Given the description of an element on the screen output the (x, y) to click on. 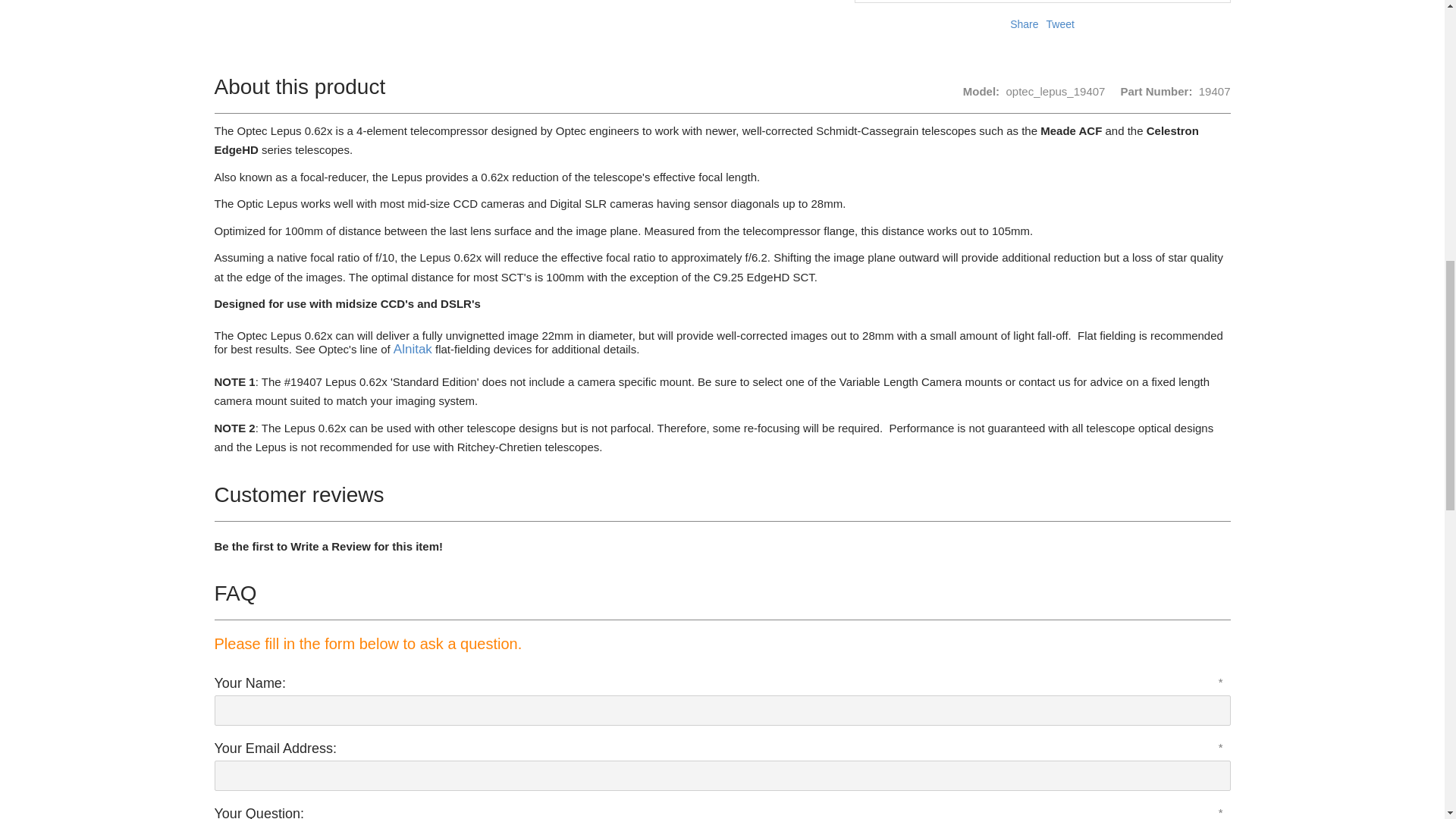
Tweet (1060, 24)
Share (1024, 24)
Alnitak (412, 348)
Write a Review (330, 545)
